Given the description of an element on the screen output the (x, y) to click on. 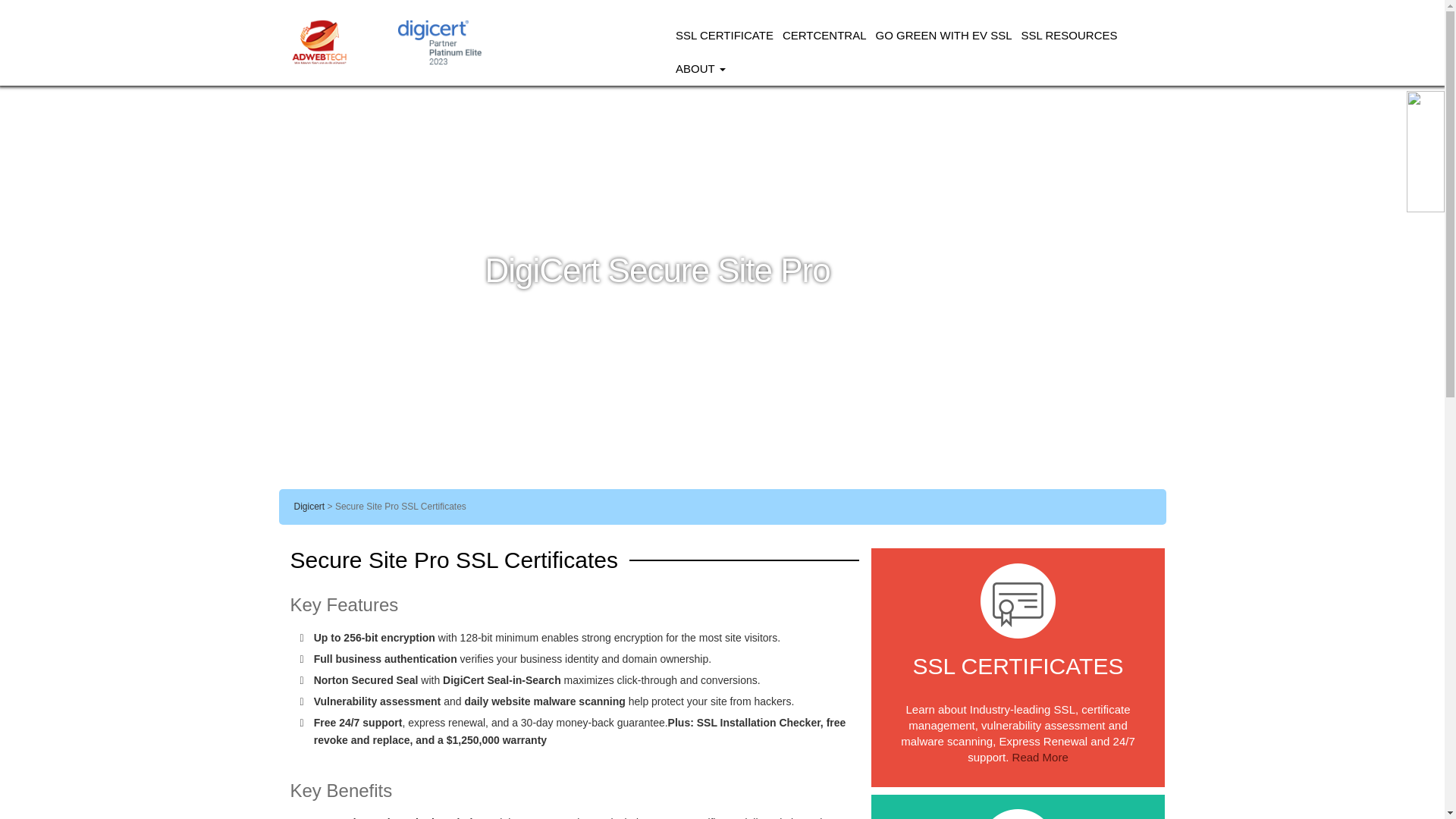
Go to Digicert. (309, 506)
CERTCENTRAL (823, 35)
Digicert (309, 506)
Read More (1039, 757)
SSL RESOURCES (1069, 35)
GO GREEN WITH EV SSL (943, 35)
ABOUT (700, 68)
SSL CERTIFICATE (724, 35)
